Given the description of an element on the screen output the (x, y) to click on. 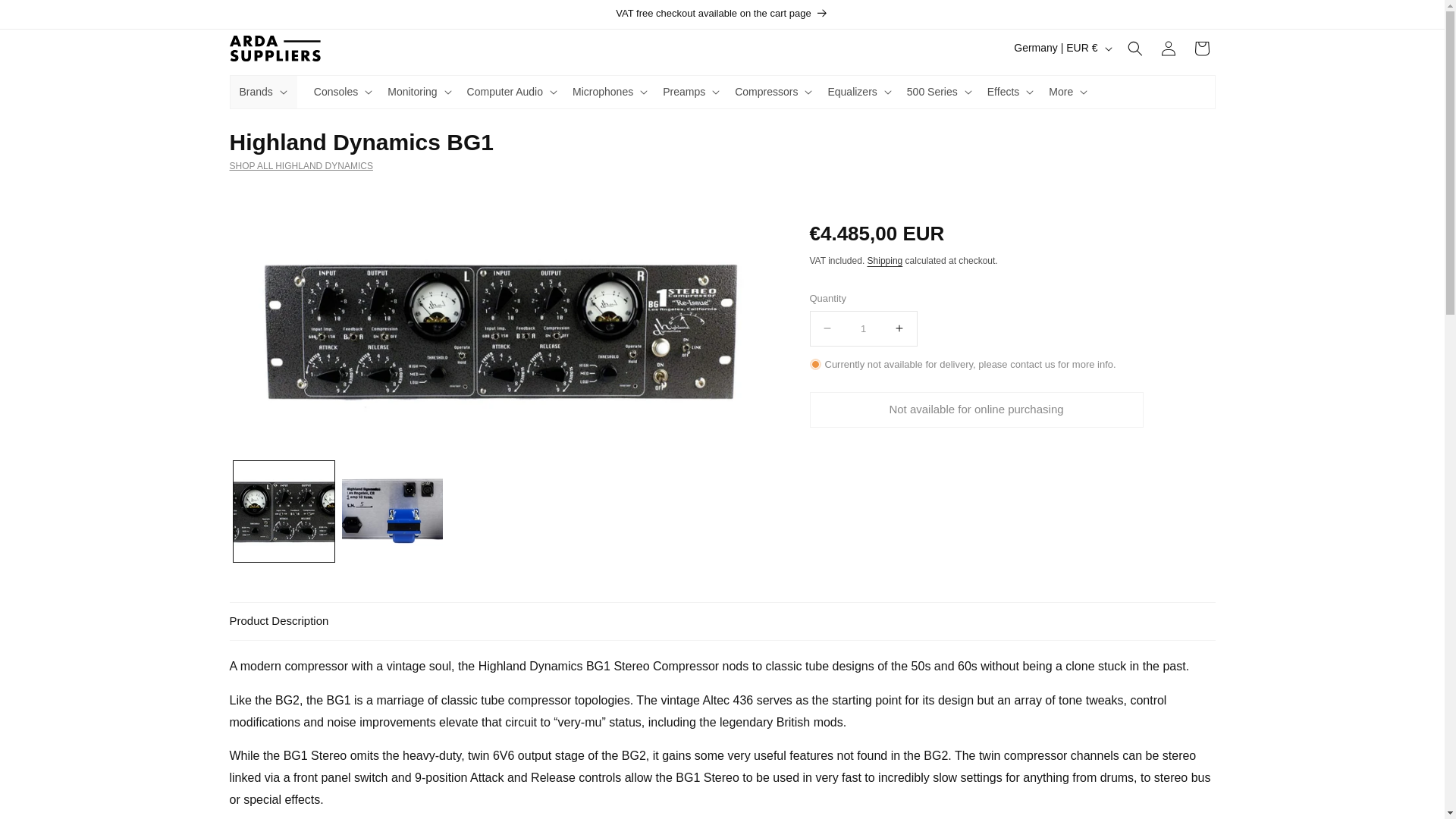
VAT free checkout available on the cart page (721, 14)
1 (863, 328)
Skip to content (45, 17)
Highland Dynamics (721, 164)
